Given the description of an element on the screen output the (x, y) to click on. 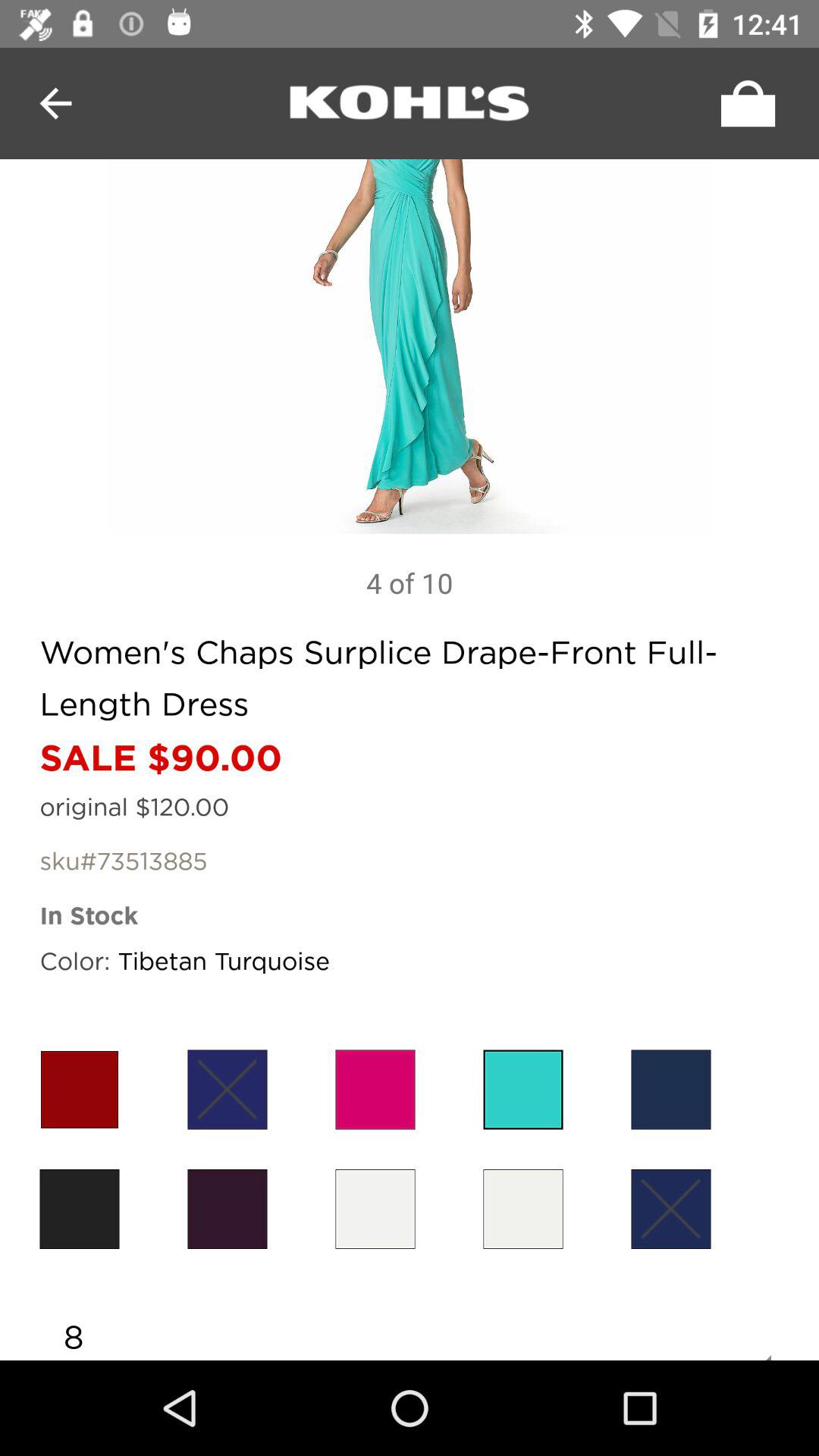
zoom in (409, 346)
